Given the description of an element on the screen output the (x, y) to click on. 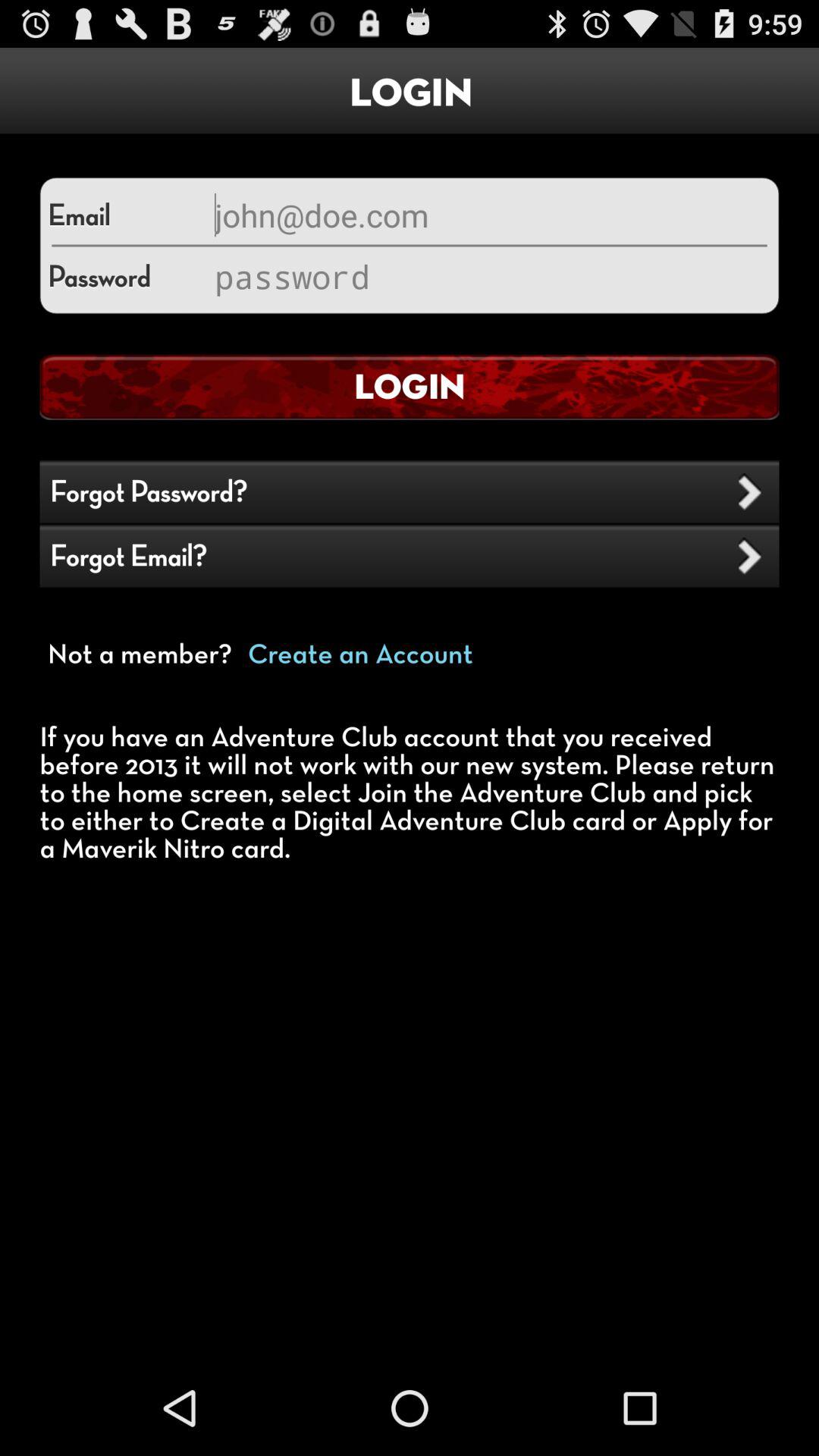
enter password (489, 275)
